Given the description of an element on the screen output the (x, y) to click on. 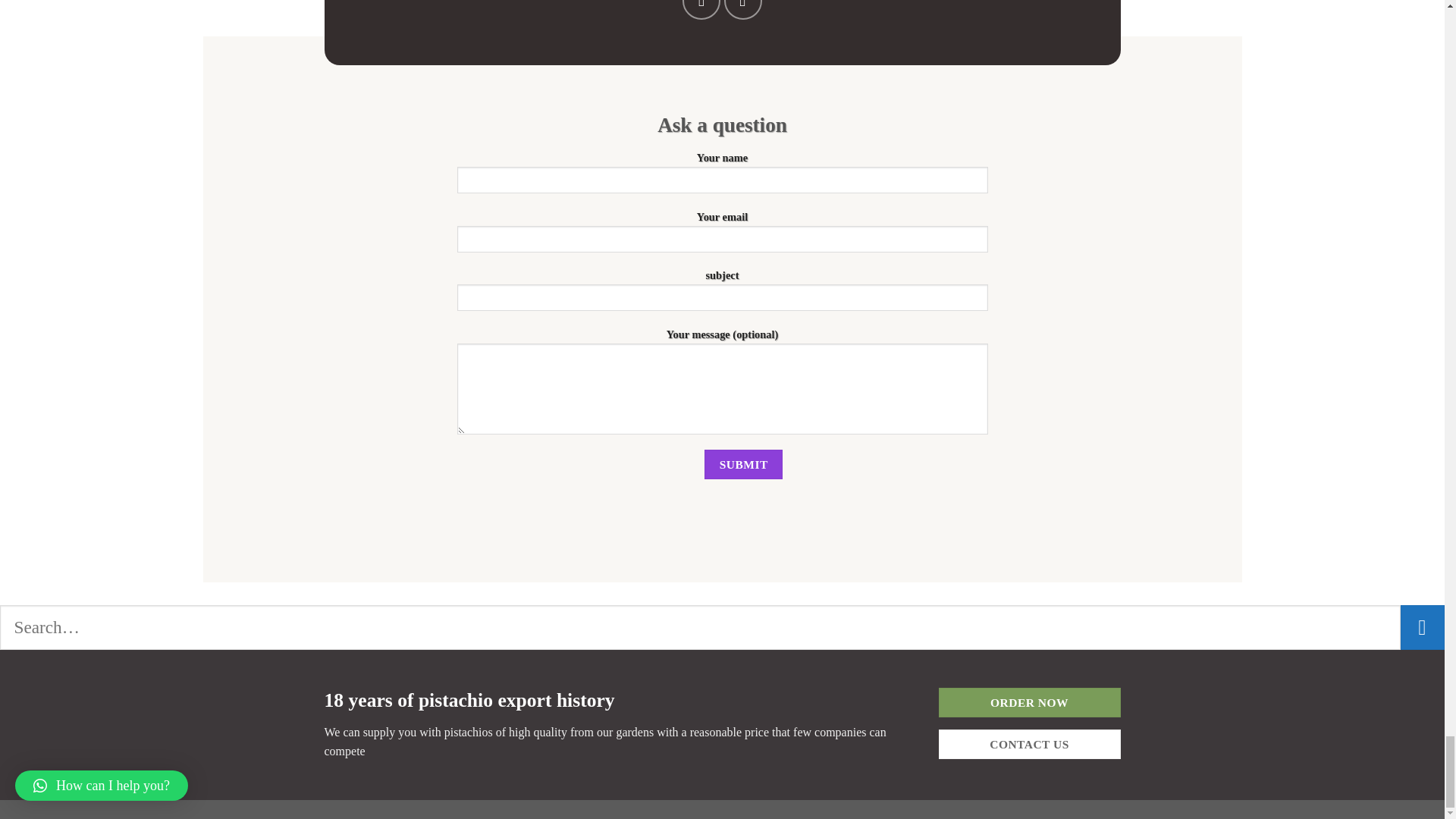
CONTACT US (1030, 744)
Follow on Facebook (701, 9)
Submit (743, 464)
Submit (743, 464)
Follow on LinkedIn (742, 9)
ORDER NOW (1030, 702)
